Given the description of an element on the screen output the (x, y) to click on. 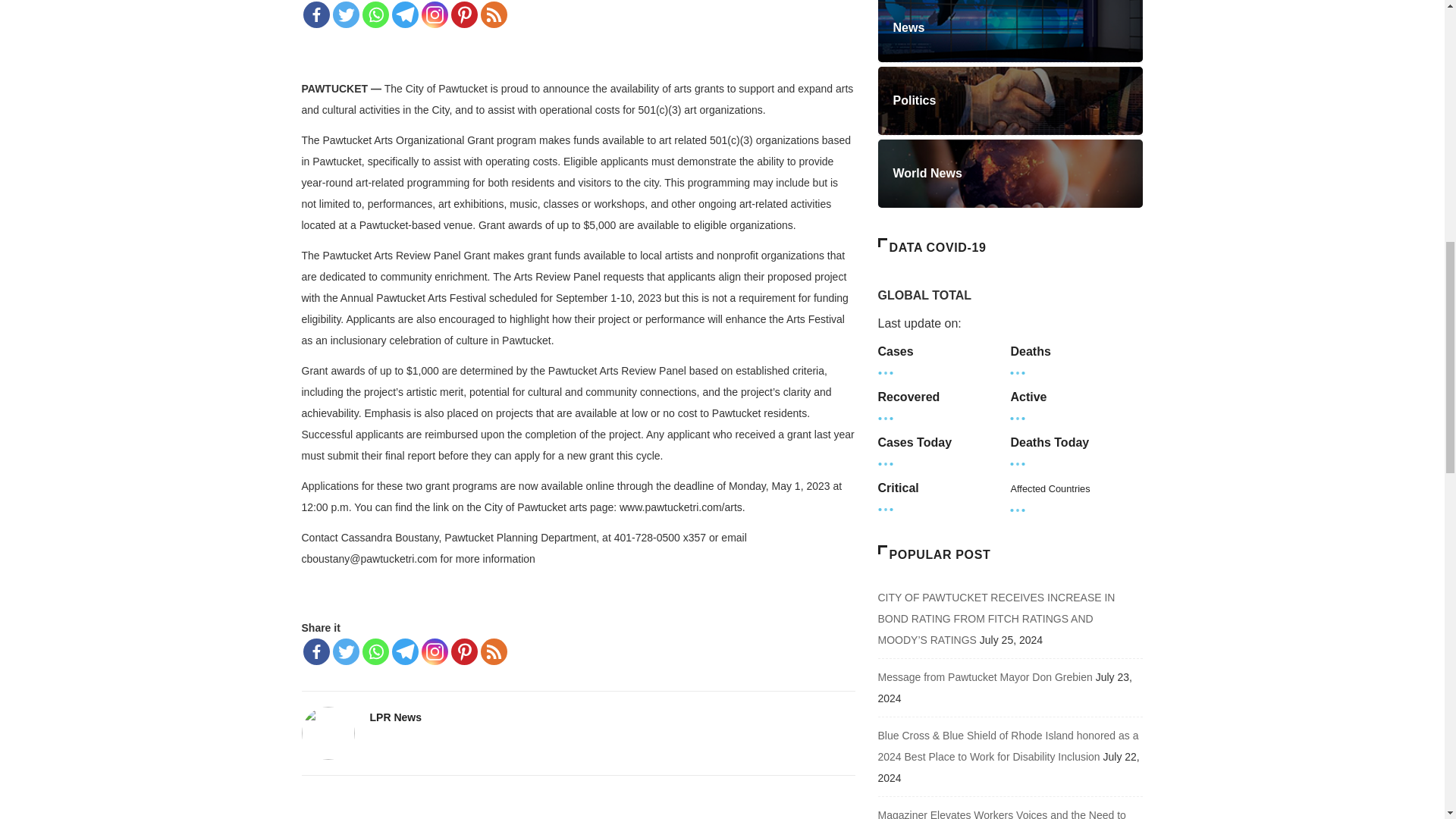
Telegram (404, 651)
Whatsapp (375, 651)
RSS Feed (493, 651)
Telegram (404, 14)
Whatsapp (375, 14)
Twitter (344, 651)
Instagram (435, 14)
Pinterest (463, 651)
Twitter (344, 14)
Pinterest (463, 14)
Facebook (316, 651)
Instagram (435, 651)
RSS Feed (493, 14)
Facebook (316, 14)
